Given the description of an element on the screen output the (x, y) to click on. 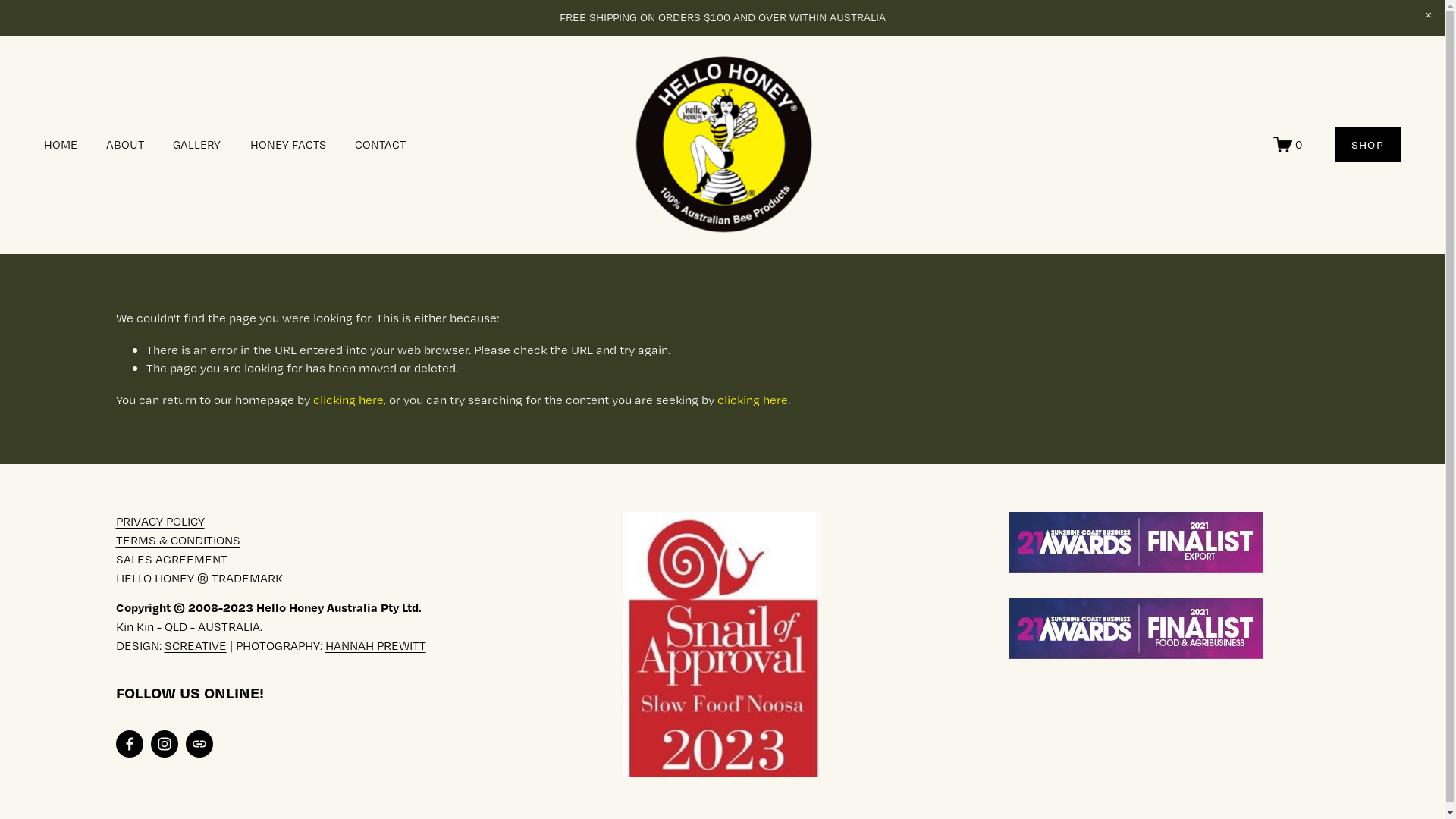
ABOUT Element type: text (125, 144)
SCREATIVE Element type: text (194, 645)
SHOP Element type: text (1367, 144)
TERMS & CONDITIONS Element type: text (177, 539)
0 Element type: text (1287, 143)
SALES AGREEMENT Element type: text (170, 558)
PRIVACY POLICY Element type: text (159, 520)
HOME Element type: text (60, 144)
clicking here Element type: text (752, 399)
HANNAH PREWITT Element type: text (374, 645)
clicking here Element type: text (347, 399)
GALLERY Element type: text (196, 144)
HONEY FACTS Element type: text (288, 144)
CONTACT Element type: text (379, 144)
